Given the description of an element on the screen output the (x, y) to click on. 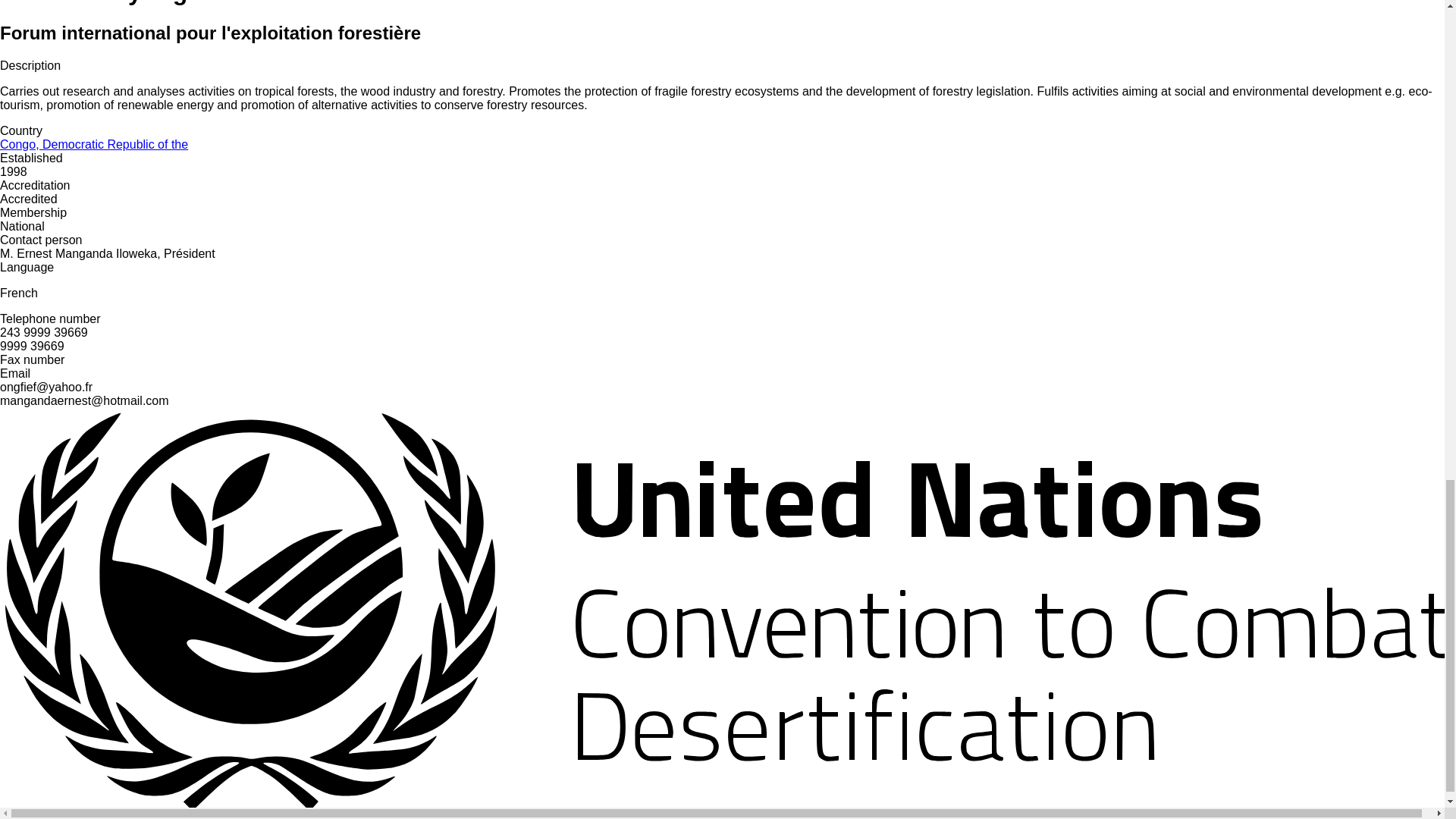
Congo, Democratic Republic of the (93, 144)
